Given the description of an element on the screen output the (x, y) to click on. 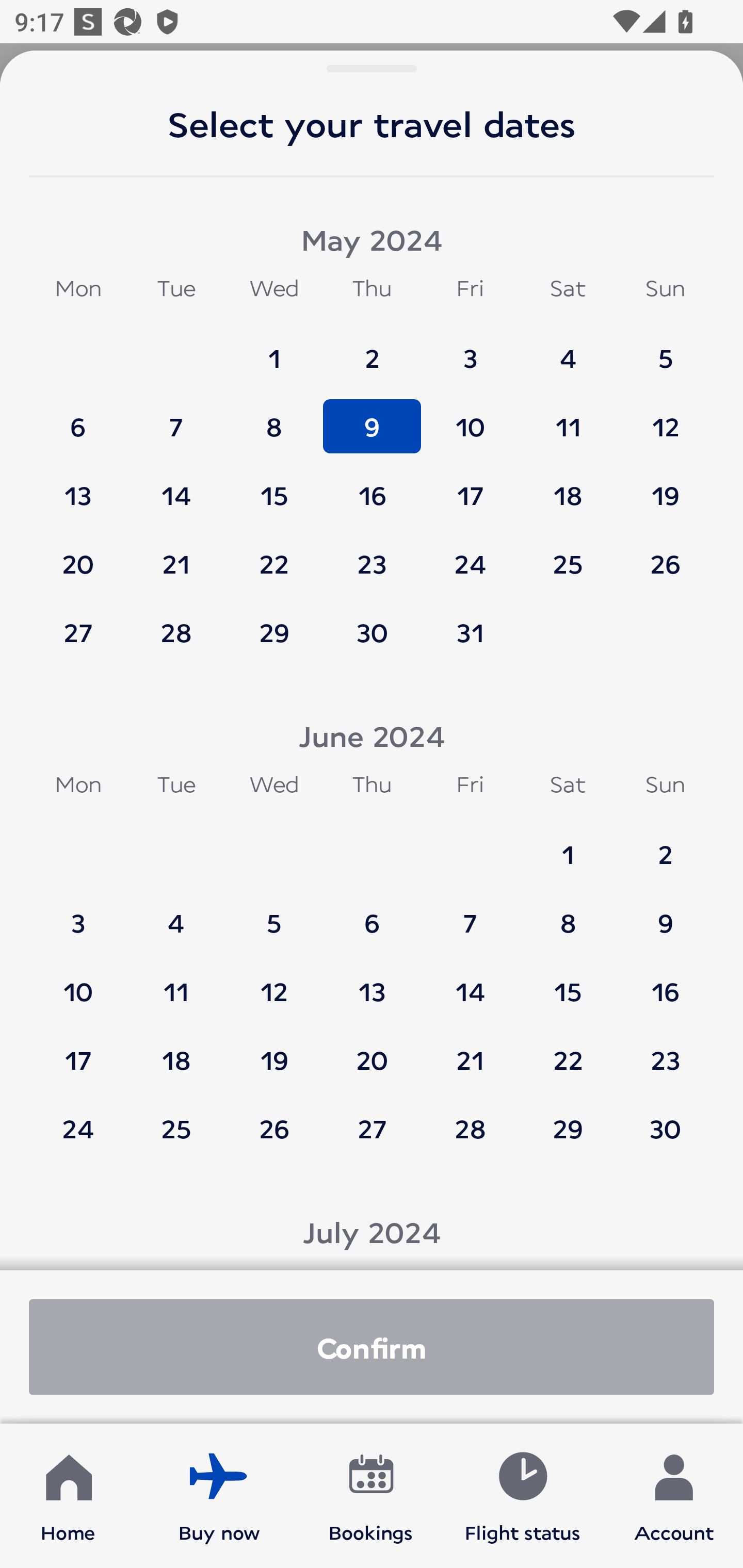
1 (274, 348)
2 (372, 348)
3 (470, 348)
4 (567, 348)
5 (665, 348)
6 (77, 416)
7 (176, 416)
8 (274, 416)
9 (372, 416)
10 (470, 416)
11 (567, 416)
12 (665, 416)
13 (77, 485)
14 (176, 485)
15 (274, 485)
16 (372, 485)
17 (470, 485)
18 (567, 485)
19 (665, 485)
20 (77, 554)
21 (176, 554)
22 (274, 554)
23 (372, 554)
24 (470, 554)
25 (567, 554)
26 (665, 554)
27 (77, 632)
28 (176, 632)
29 (274, 632)
30 (372, 632)
31 (470, 632)
1 (567, 844)
2 (665, 844)
3 (77, 913)
4 (176, 913)
5 (274, 913)
6 (372, 913)
7 (470, 913)
8 (567, 913)
9 (665, 913)
10 (77, 982)
11 (176, 982)
12 (274, 982)
13 (372, 982)
14 (470, 982)
15 (567, 982)
16 (665, 982)
17 (77, 1050)
18 (176, 1050)
19 (274, 1050)
20 (372, 1050)
21 (470, 1050)
22 (567, 1050)
23 (665, 1050)
24 (77, 1128)
25 (176, 1128)
26 (274, 1128)
27 (372, 1128)
28 (470, 1128)
29 (567, 1128)
30 (665, 1128)
Confirm (371, 1346)
Home (68, 1495)
Bookings (370, 1495)
Flight status (522, 1495)
Account (674, 1495)
